Given the description of an element on the screen output the (x, y) to click on. 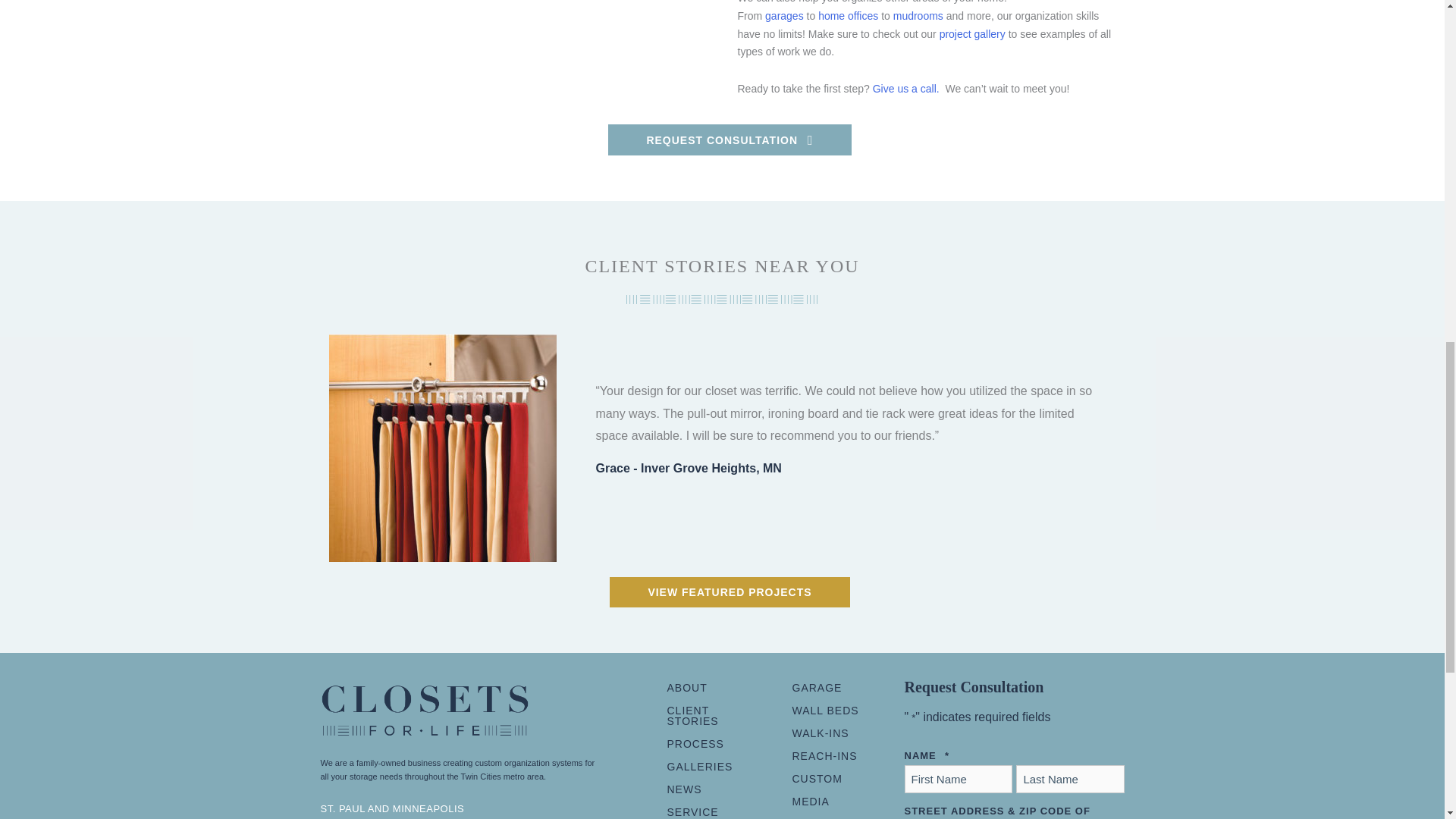
Tie Rack (442, 447)
line (722, 298)
